Given the description of an element on the screen output the (x, y) to click on. 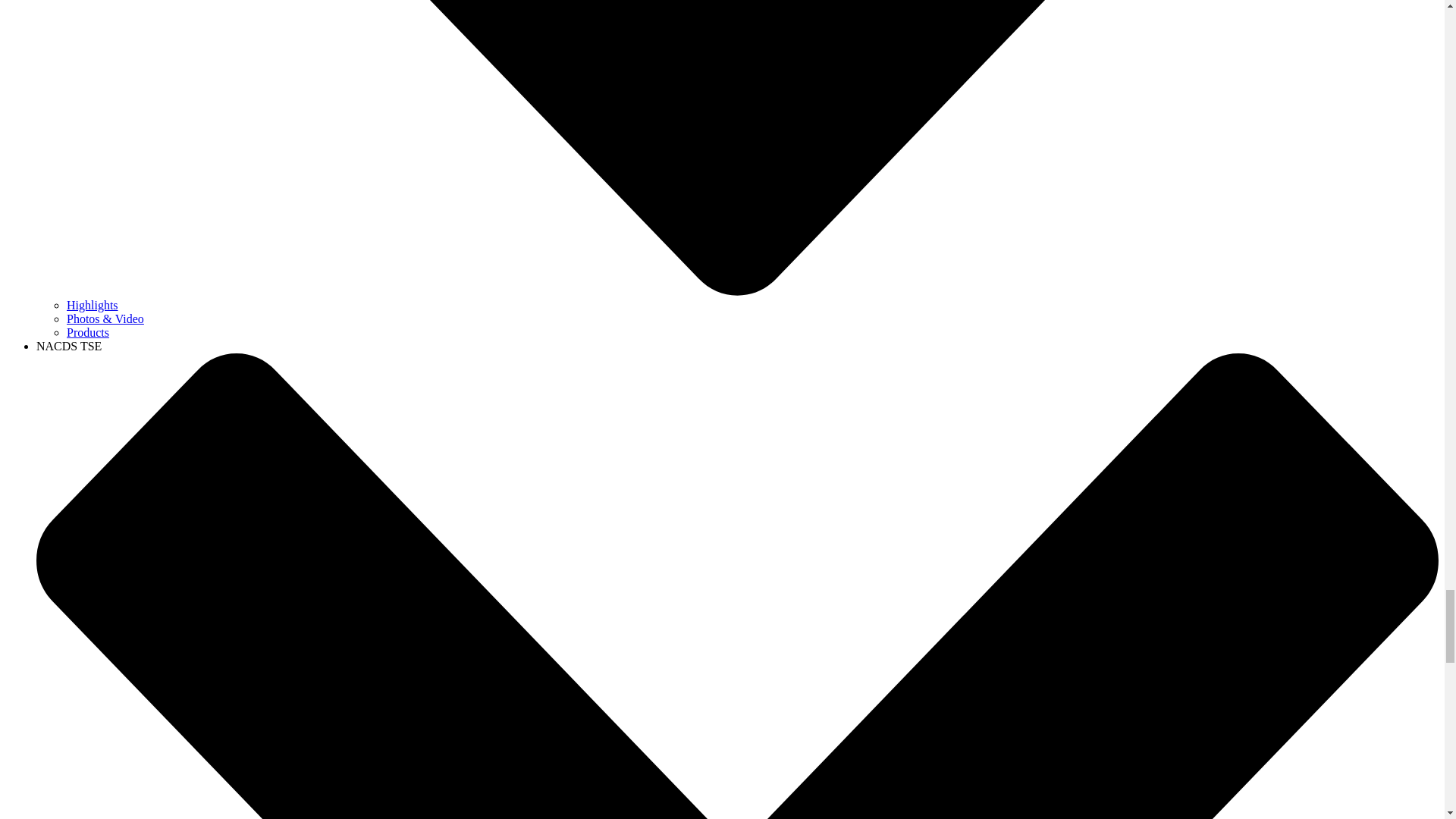
Highlights (91, 305)
NACDS TSE (68, 345)
Products (87, 332)
